Given the description of an element on the screen output the (x, y) to click on. 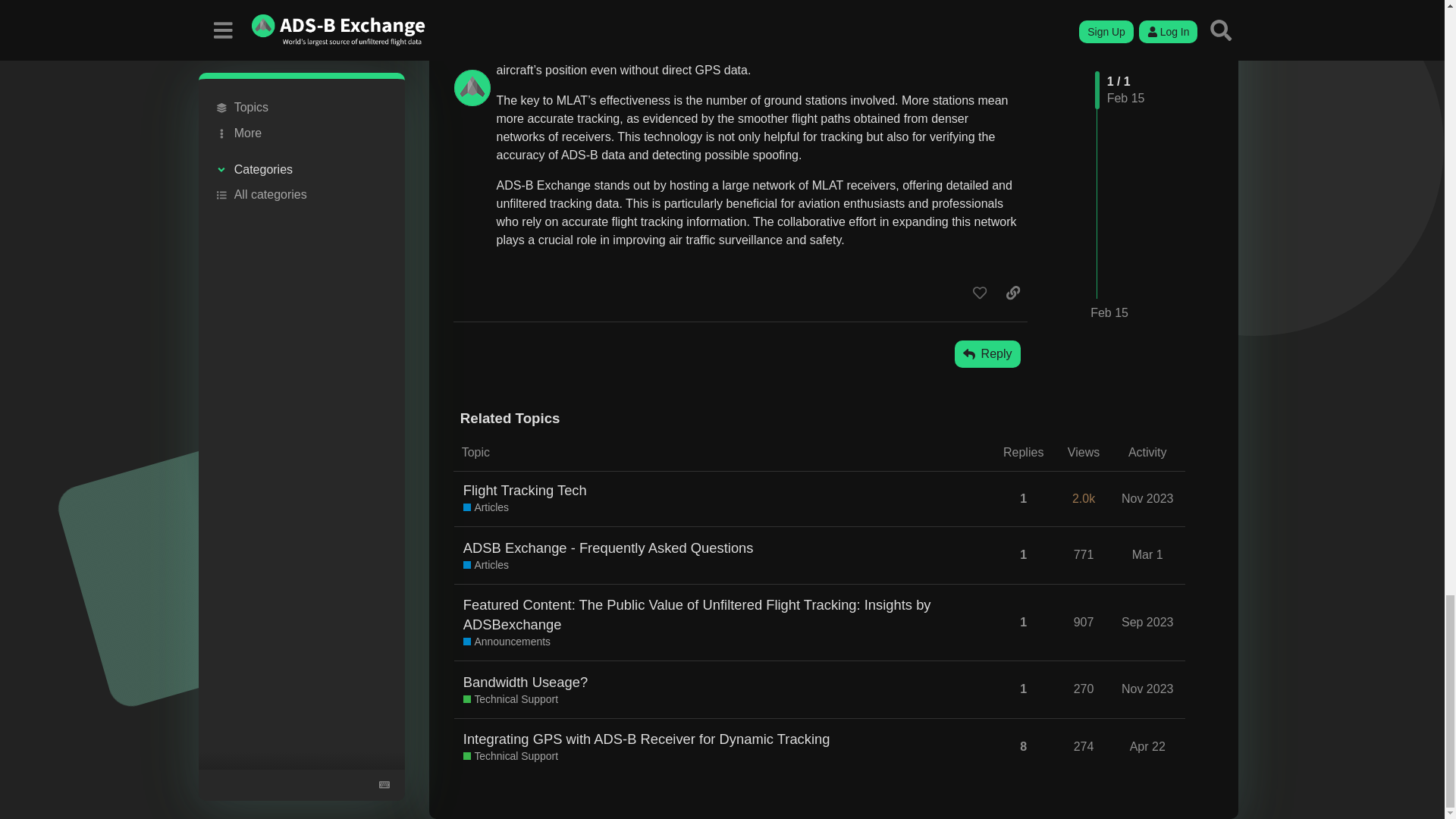
Bandwidth Useage? (525, 681)
ADSB Exchange - Frequently Asked Questions (608, 547)
Please sign up or log in to like this post (979, 292)
Reply (987, 353)
Nov 2023 (1147, 498)
Announcements (506, 642)
Flight Tracking Tech (524, 489)
copy a link to this post to clipboard (1012, 292)
Articles (485, 565)
Sep 2023 (1147, 621)
